Given the description of an element on the screen output the (x, y) to click on. 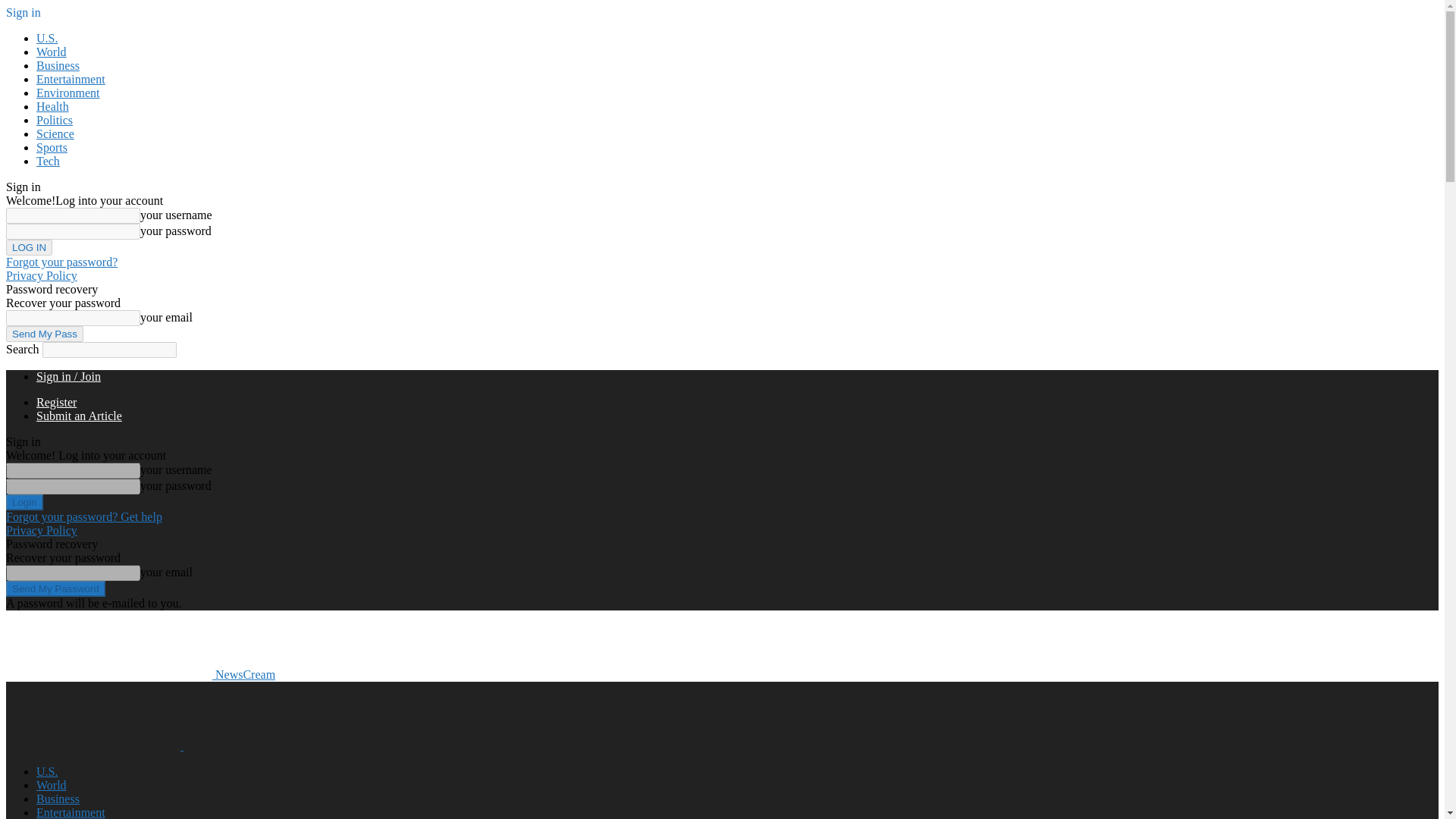
NewsCream (140, 674)
Sports (51, 146)
Send My Pass (43, 333)
Sign in (22, 11)
Register (56, 401)
U.S. (47, 38)
U.S. (47, 771)
Science (55, 133)
Business (58, 798)
NewsCream Logo (108, 644)
